Given the description of an element on the screen output the (x, y) to click on. 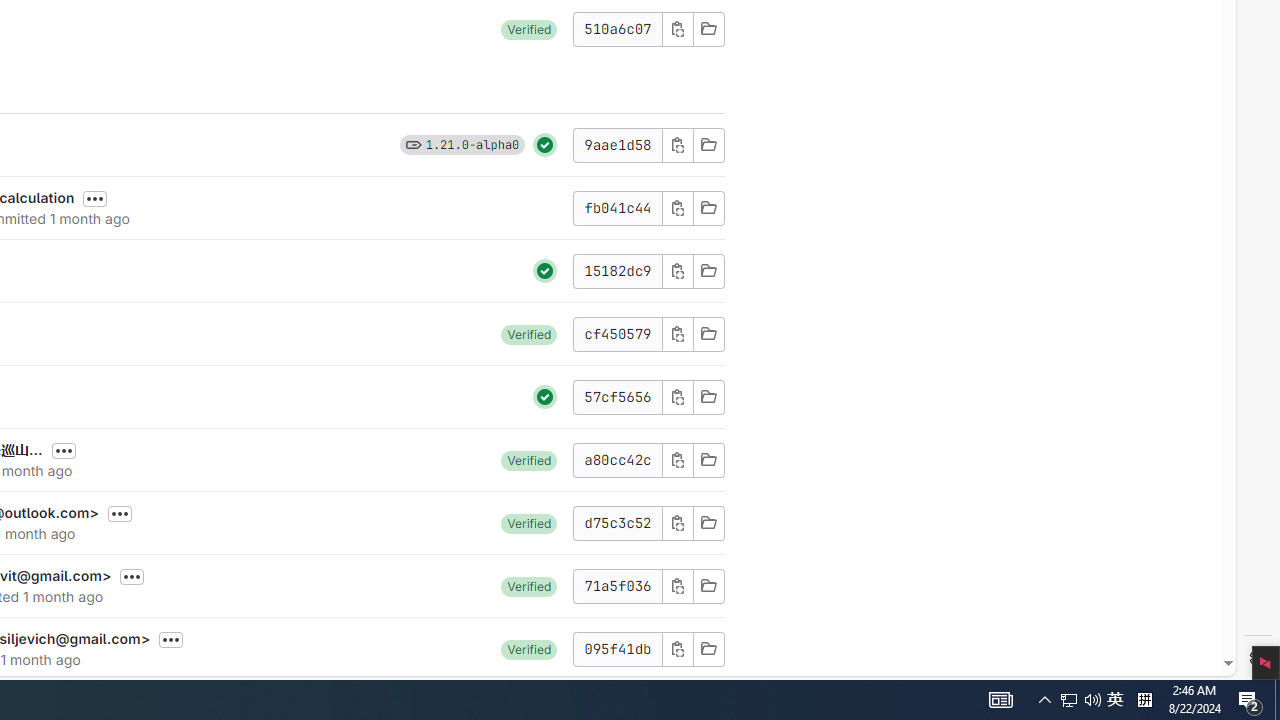
Pipeline: passed (545, 396)
Class: s16 gl-icon gl-badge-icon (413, 144)
Class: s16 (708, 648)
Browse Files (708, 648)
1.21.0-alpha0 (471, 144)
Toggle commit description (171, 640)
Copy commit SHA (676, 648)
Class: s16 gl-icon gl-button-icon  (677, 648)
Verified (529, 648)
Class: s24 gl-icon (545, 396)
